Given the description of an element on the screen output the (x, y) to click on. 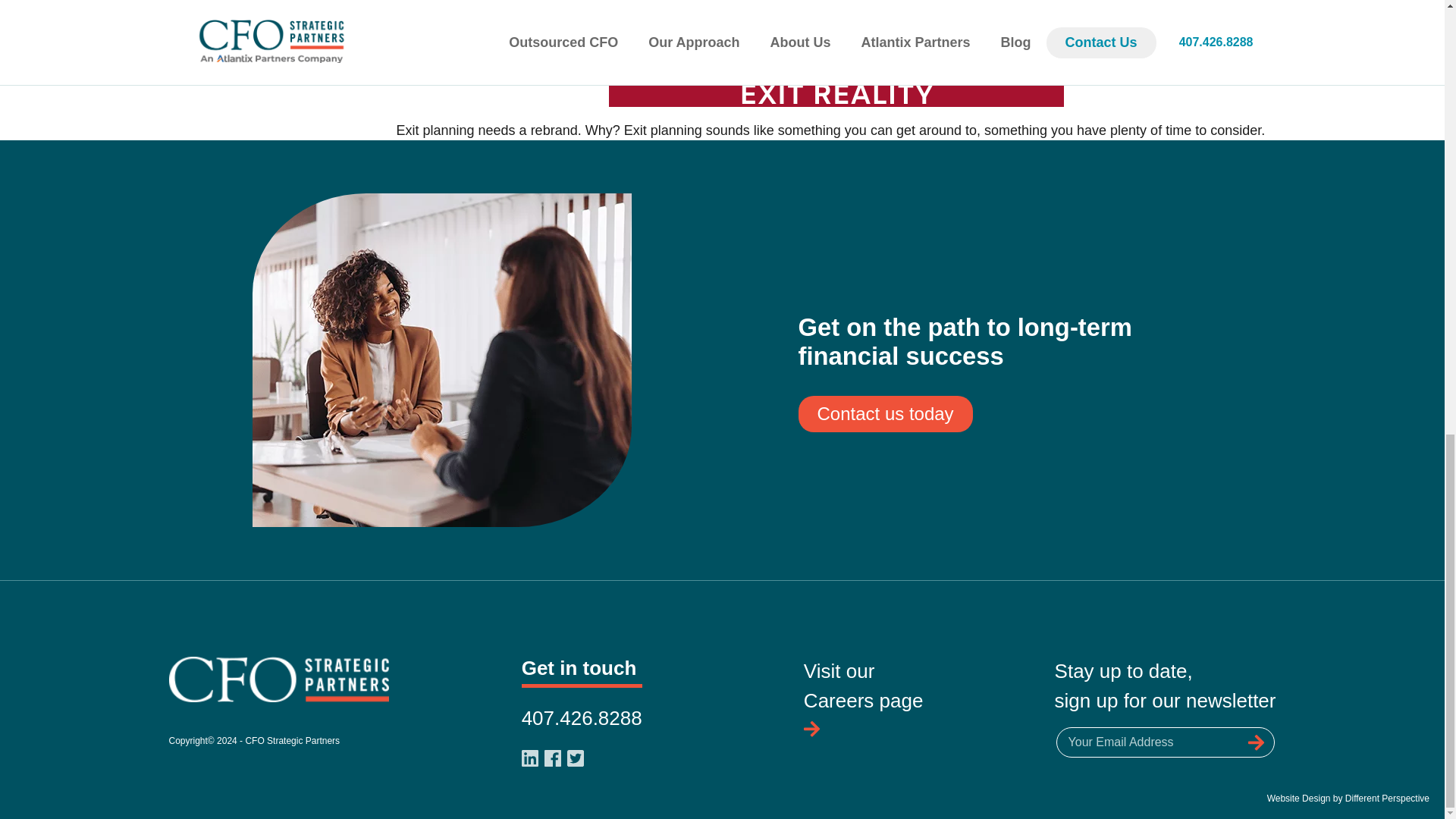
407.426.8288 (863, 701)
Different Perspective (581, 717)
Contact us today (1387, 798)
